Given the description of an element on the screen output the (x, y) to click on. 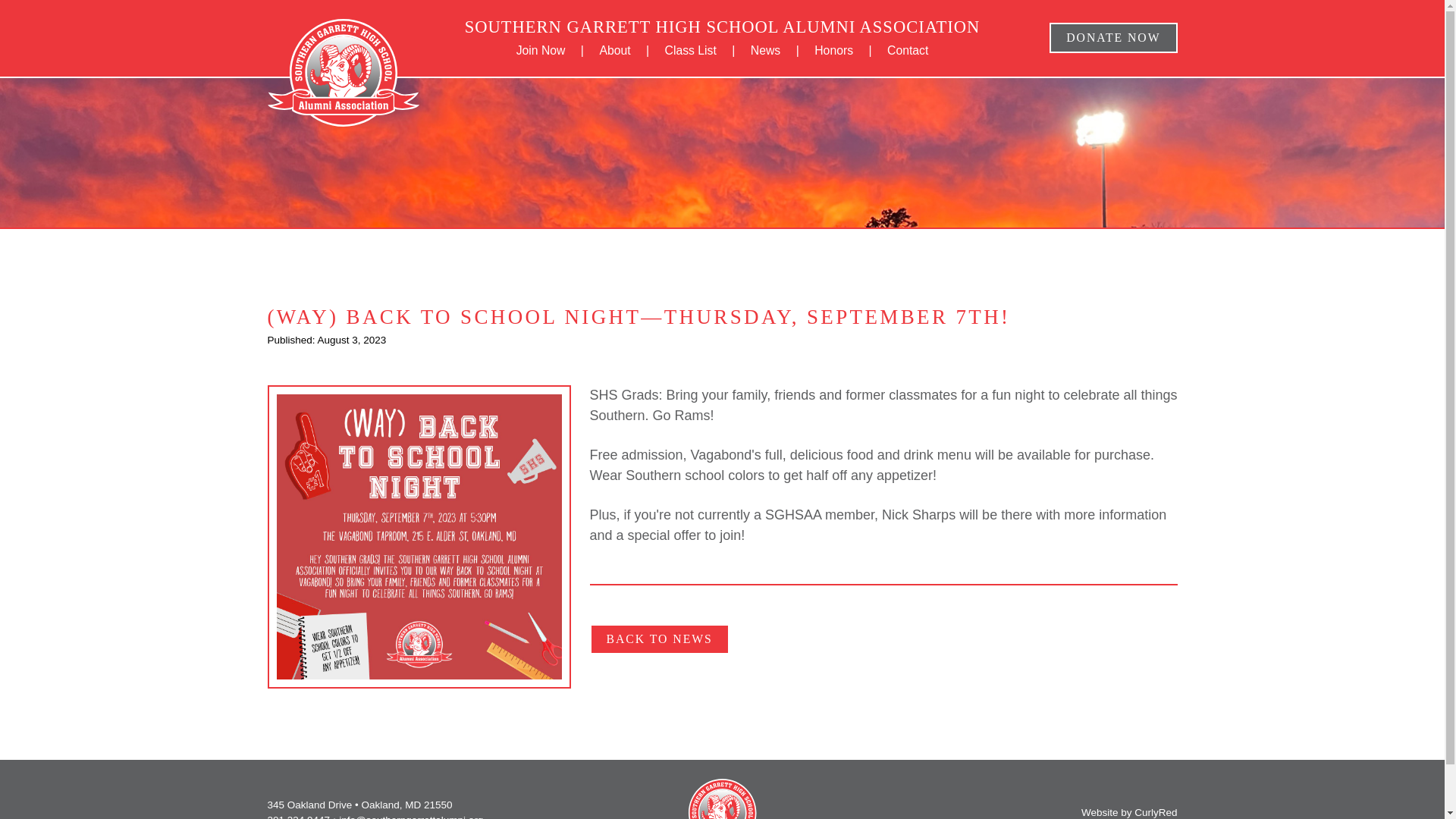
About (614, 50)
Join Now (541, 50)
Website by CurlyRed (1129, 812)
Contact (907, 50)
DONATE NOW (1112, 37)
Class List (690, 50)
301.334.9447 (298, 816)
News (765, 50)
Honors (833, 50)
BACK TO NEWS (659, 638)
